Given the description of an element on the screen output the (x, y) to click on. 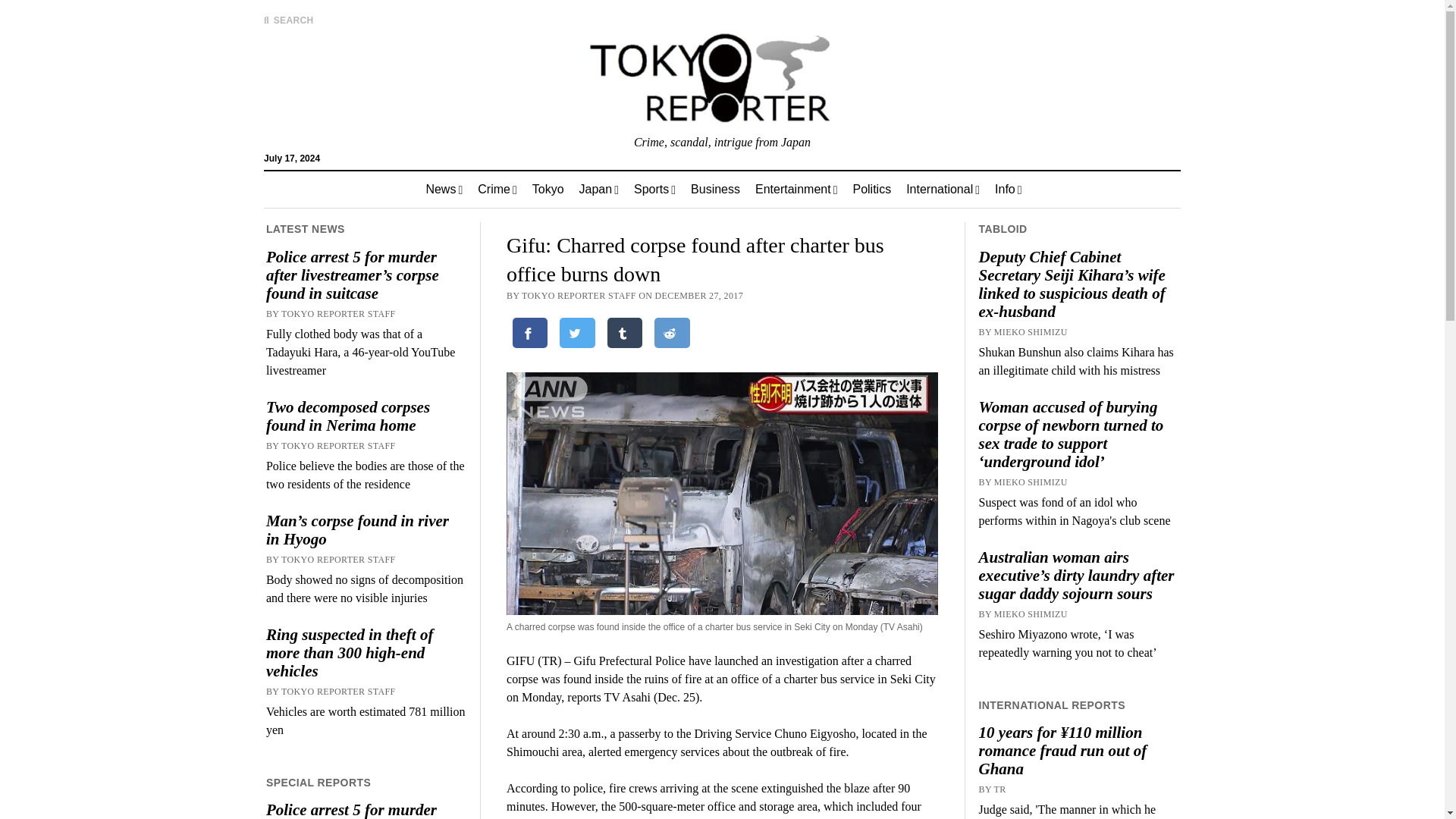
Sports (654, 189)
Search (945, 129)
SEARCH (288, 20)
Business (715, 189)
Crime (496, 189)
Politics (871, 189)
Japan (598, 189)
Entertainment (795, 189)
Tokyo (547, 189)
News (443, 189)
